Given the description of an element on the screen output the (x, y) to click on. 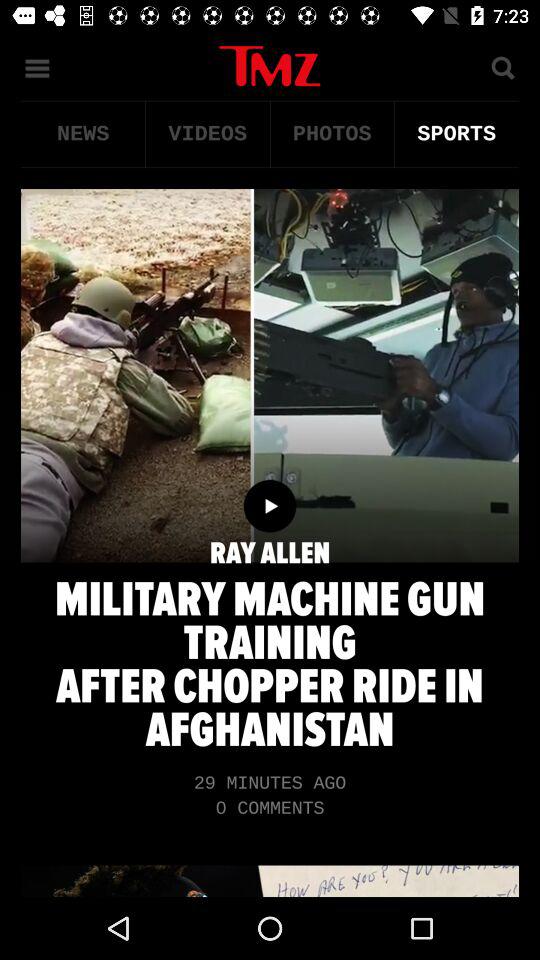
turn on the icon to the right of photos icon (456, 133)
